Given the description of an element on the screen output the (x, y) to click on. 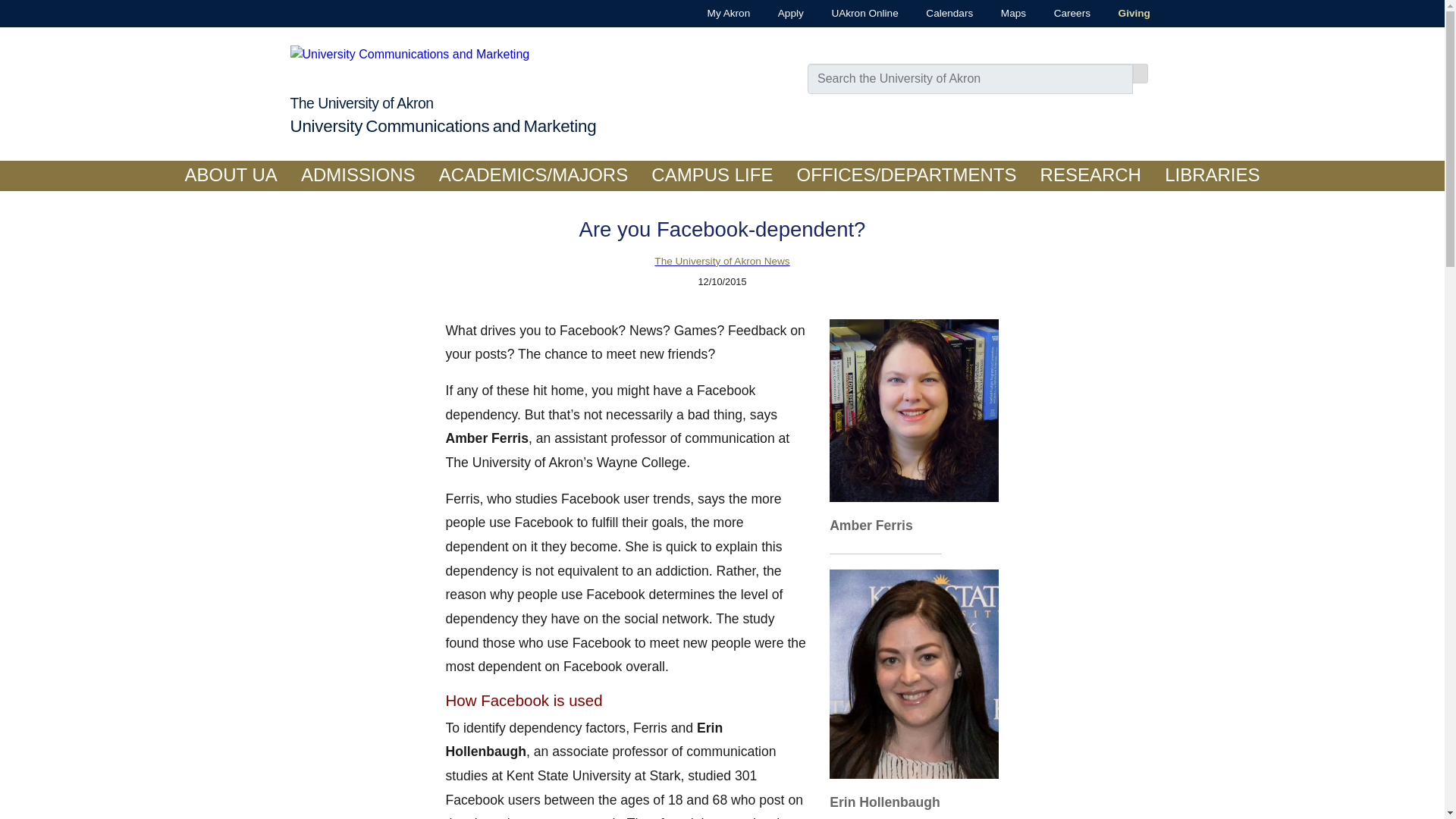
Amber Ferris (913, 410)
Careers (1058, 13)
ADMISSIONS (357, 175)
Giving (1120, 13)
Maps (999, 13)
LIBRARIES (1212, 175)
CAMPUS LIFE (712, 175)
RESEARCH (1090, 175)
Calendars (936, 13)
My Akron (714, 13)
UAkron Online (850, 13)
The University of Akron News (721, 262)
Apply (776, 13)
